Given the description of an element on the screen output the (x, y) to click on. 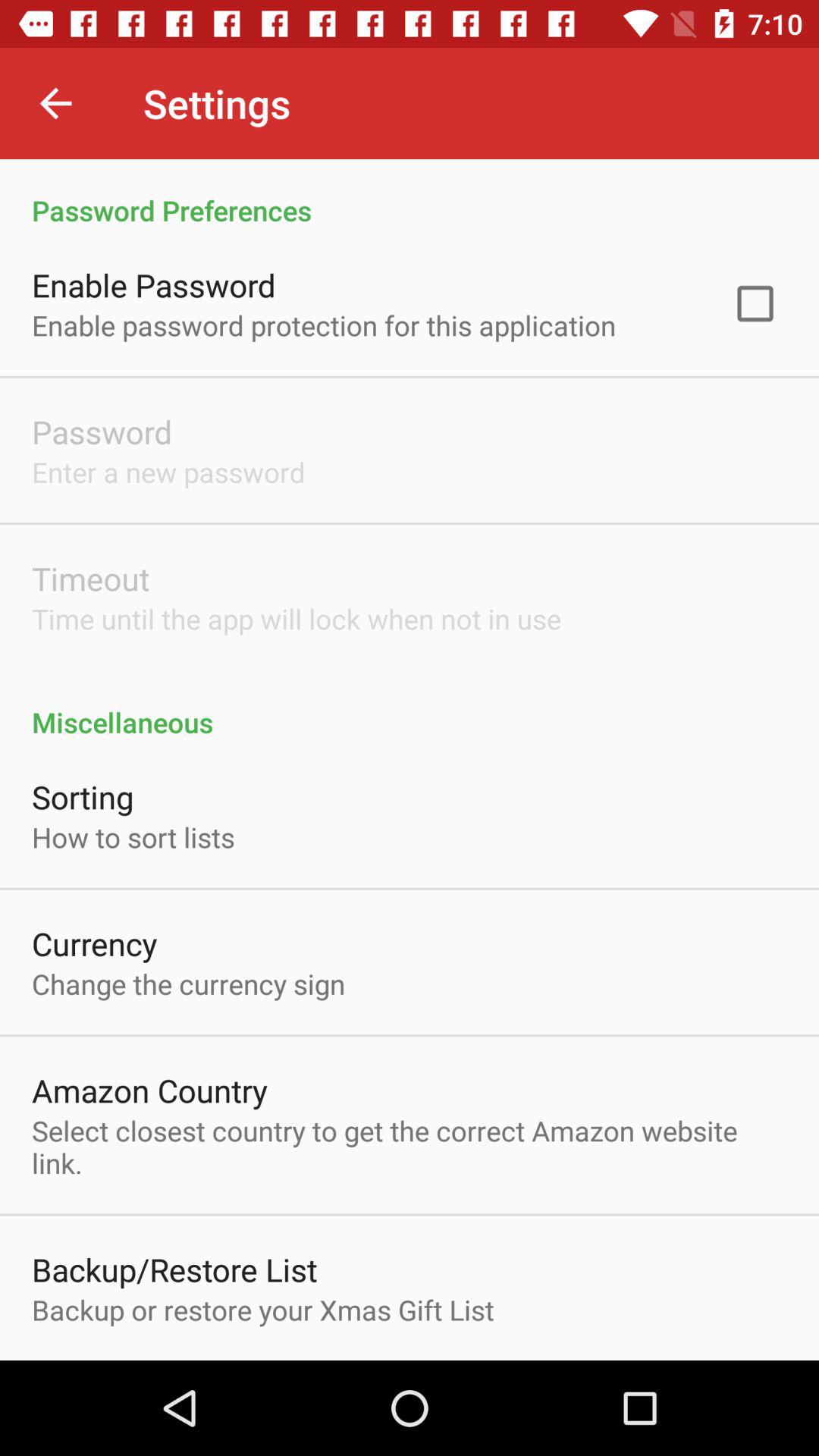
press the icon next to the settings icon (55, 103)
